Given the description of an element on the screen output the (x, y) to click on. 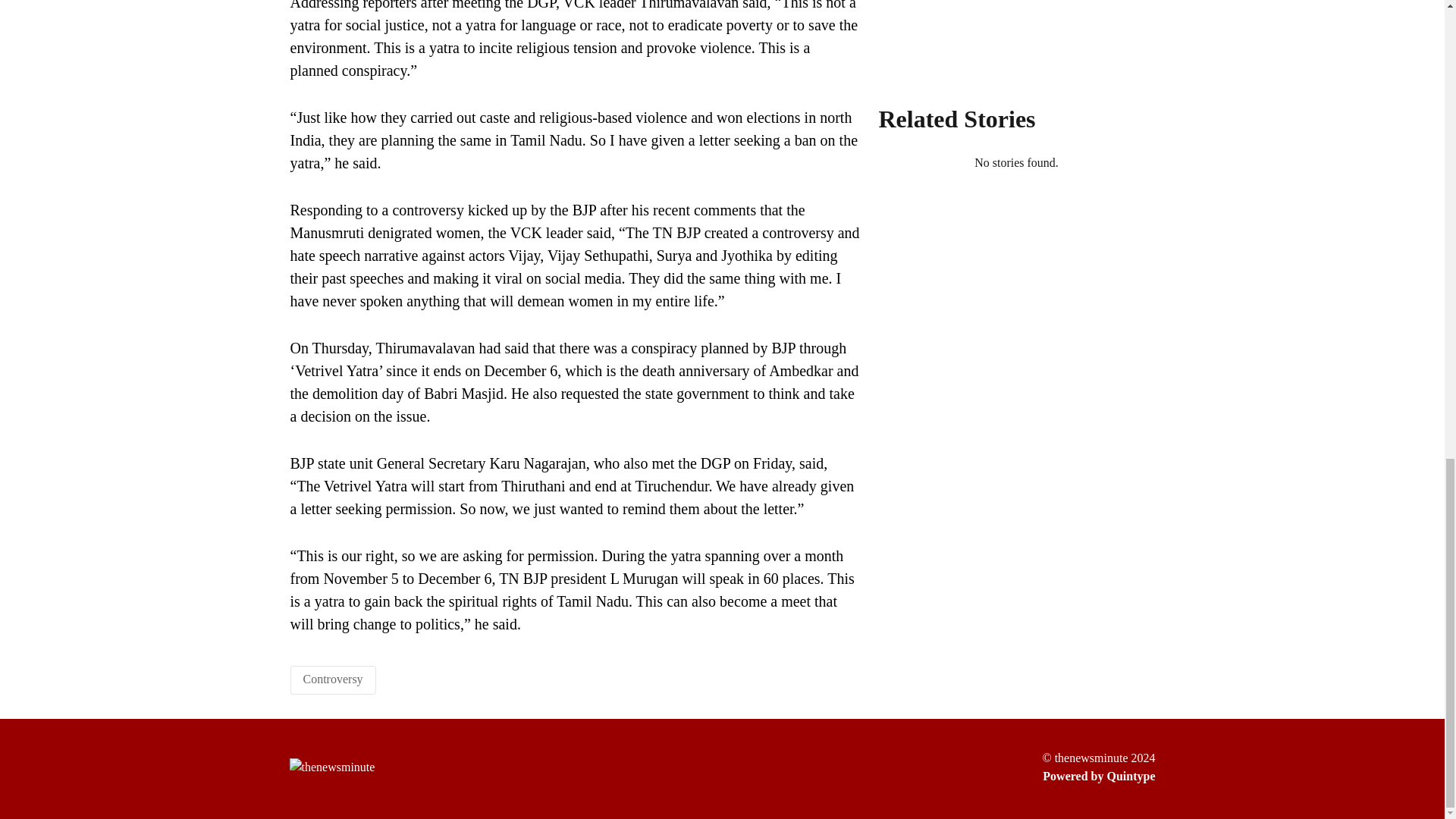
Powered by Quintype (1098, 776)
Controversy (332, 678)
